Given the description of an element on the screen output the (x, y) to click on. 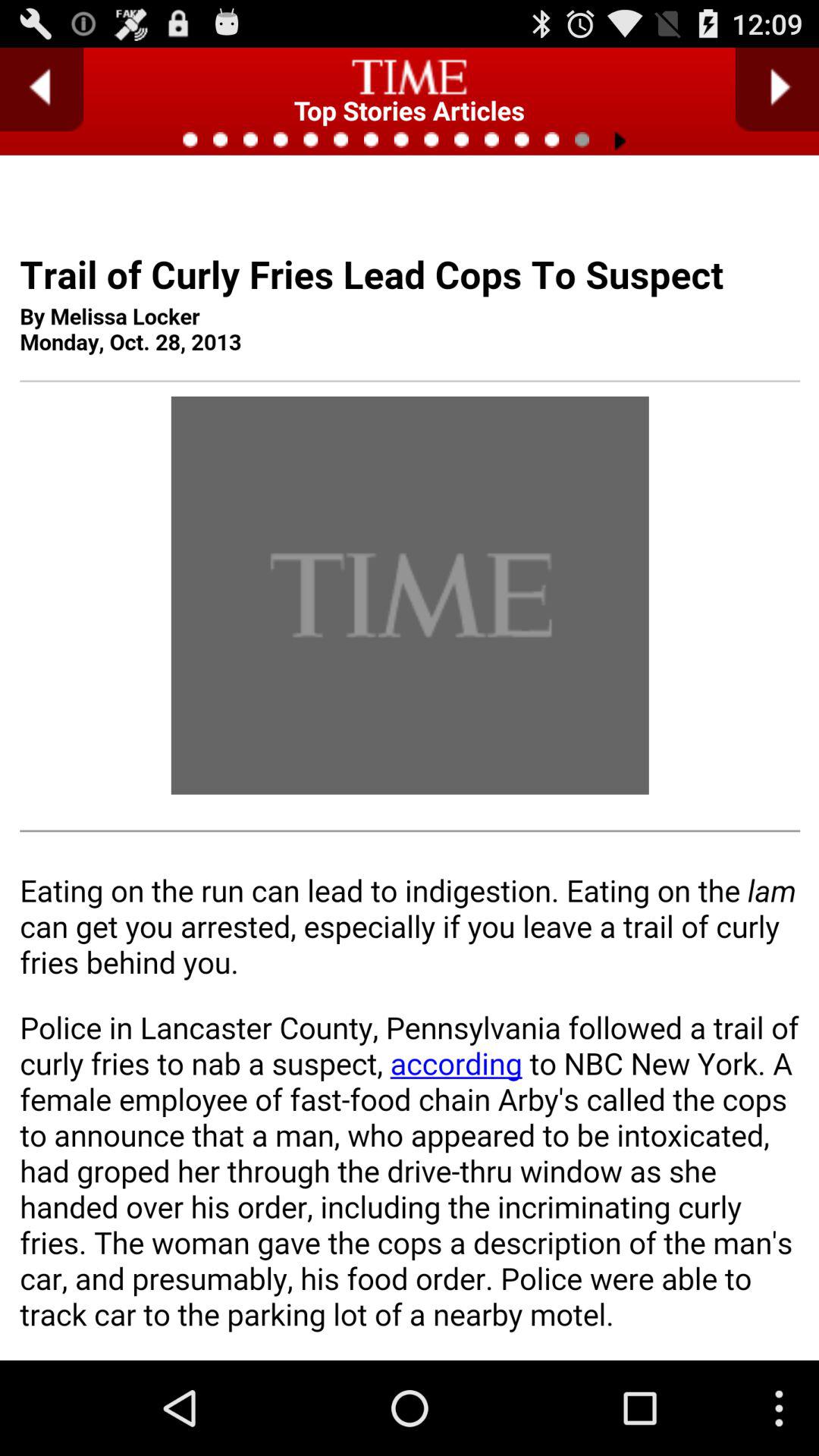
go to previous (41, 89)
